Given the description of an element on the screen output the (x, y) to click on. 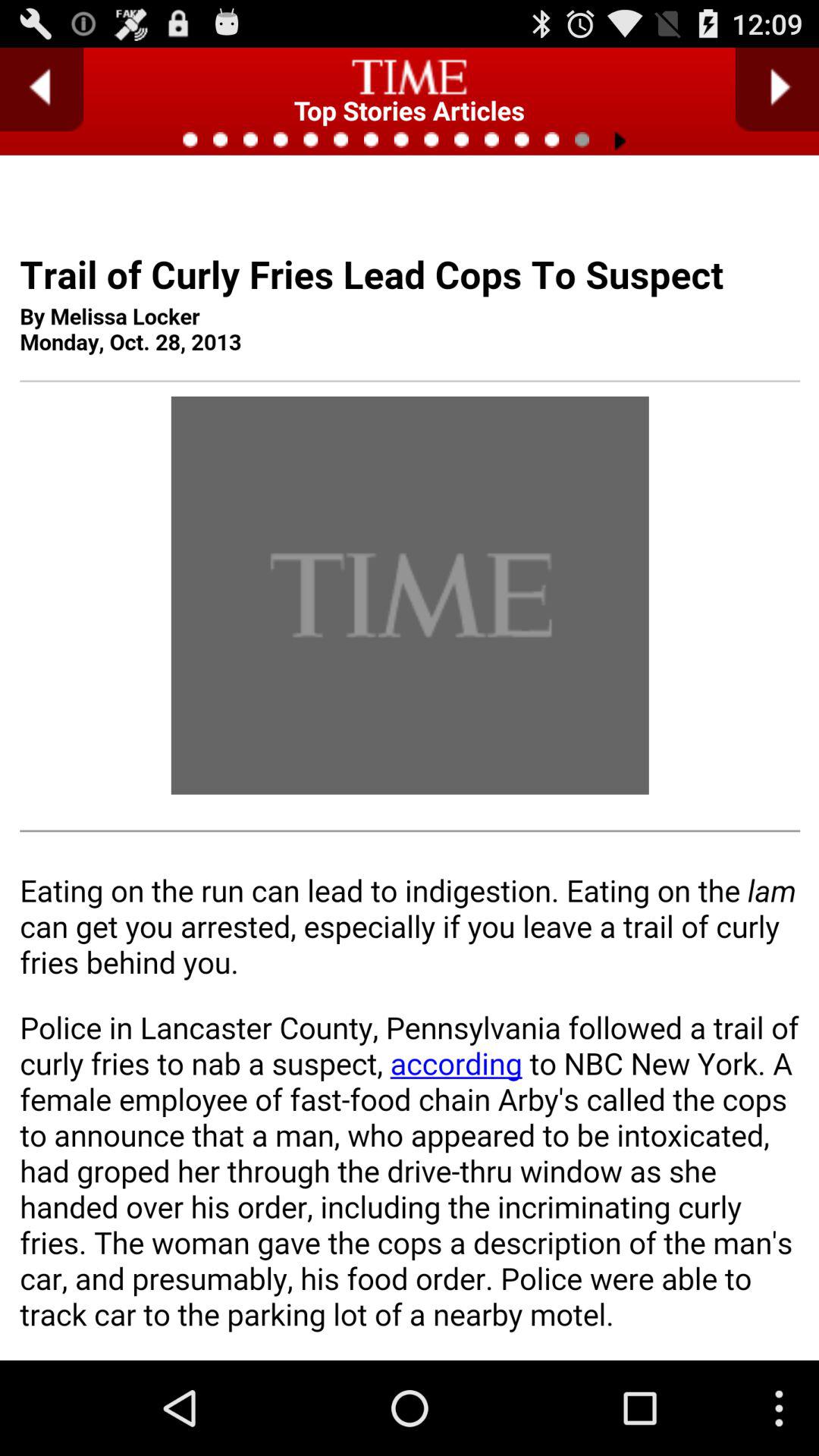
go to previous (41, 89)
